Given the description of an element on the screen output the (x, y) to click on. 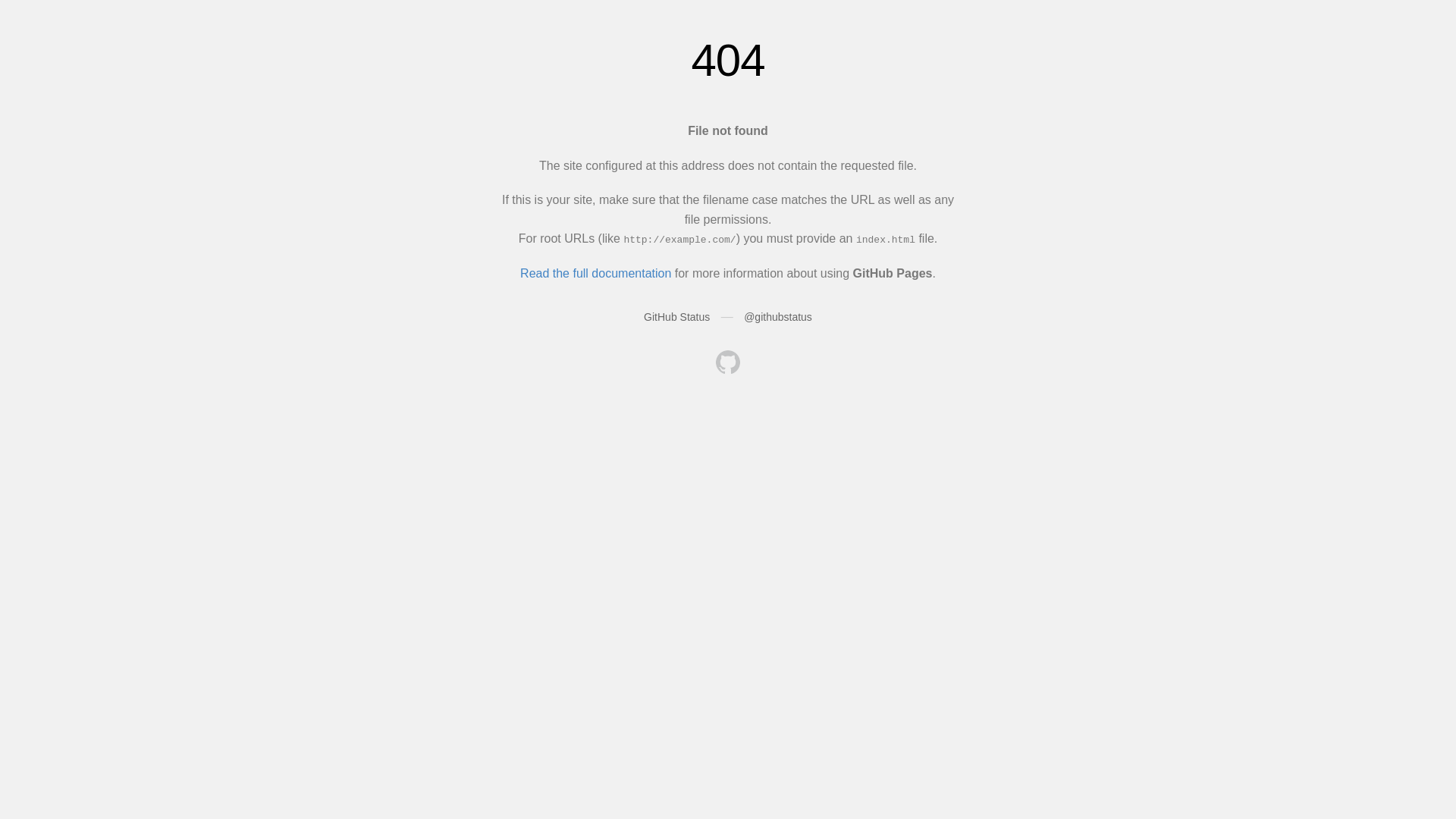
@githubstatus Element type: text (777, 316)
Read the full documentation Element type: text (595, 272)
GitHub Status Element type: text (676, 316)
